Given the description of an element on the screen output the (x, y) to click on. 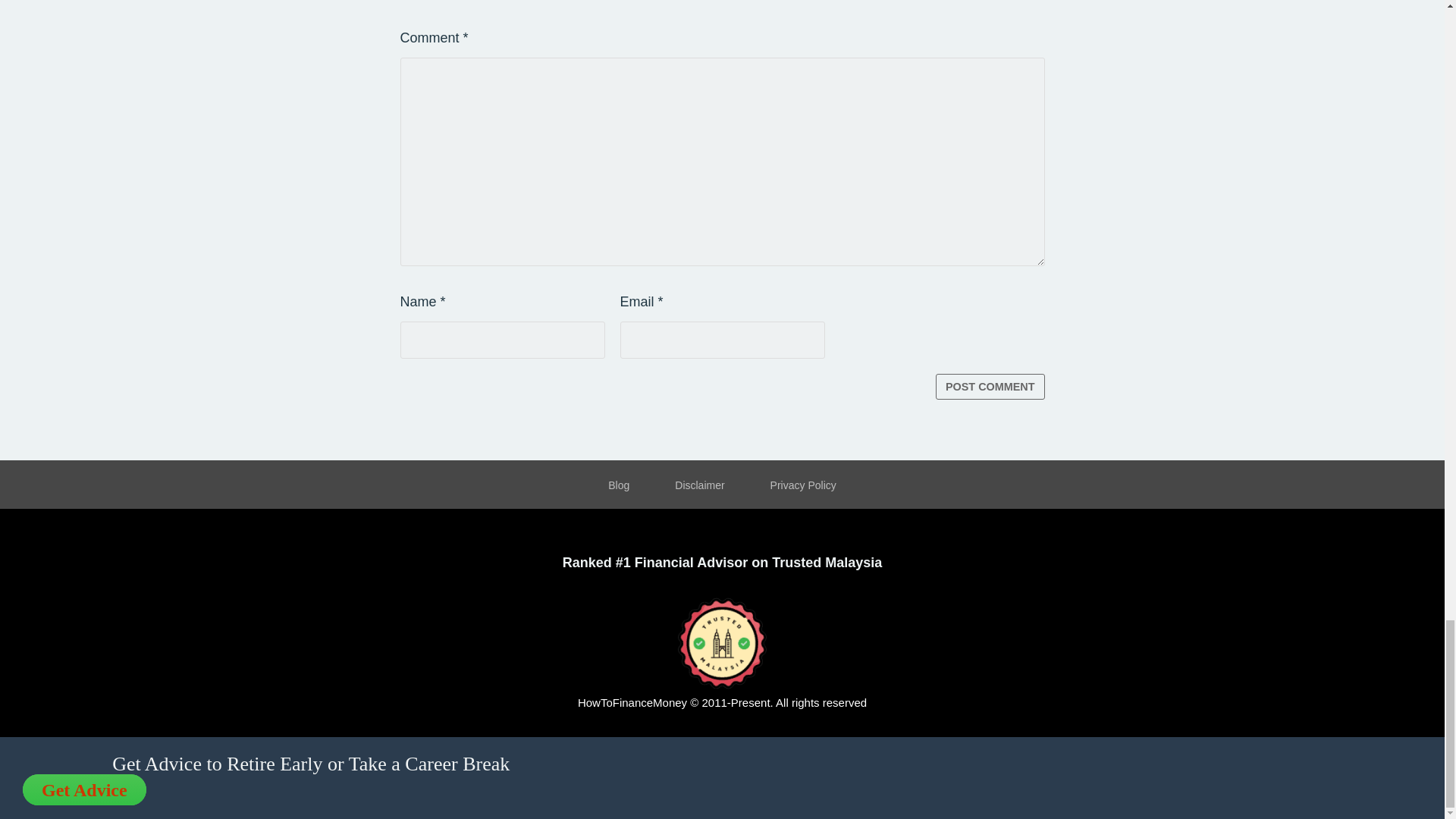
Privacy Policy (803, 486)
Blog (618, 486)
Disclaimer (699, 486)
Post Comment (990, 386)
Get Advice (85, 789)
Post Comment (990, 386)
